Given the description of an element on the screen output the (x, y) to click on. 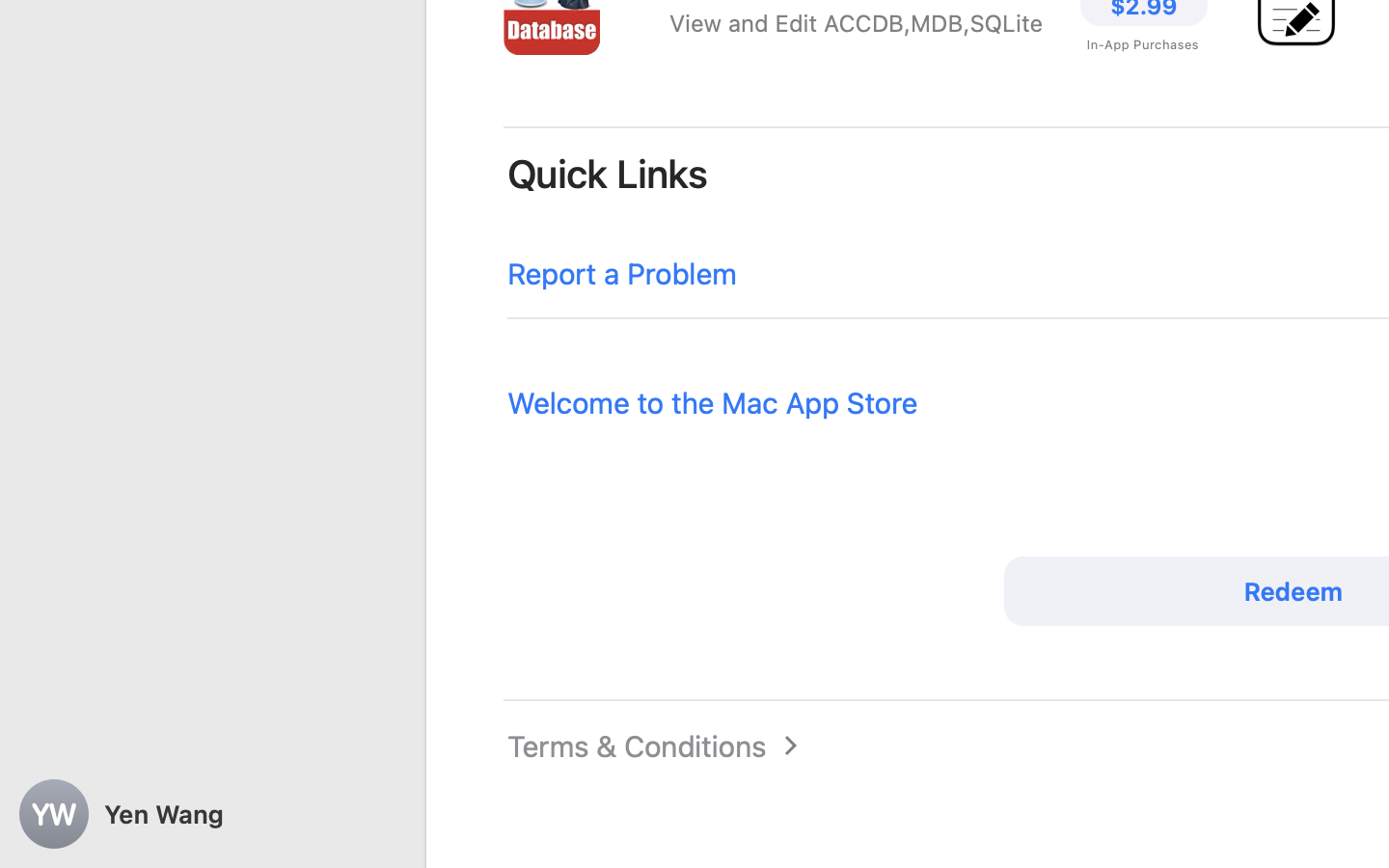
Yen Wang Element type: AXButton (212, 813)
